Given the description of an element on the screen output the (x, y) to click on. 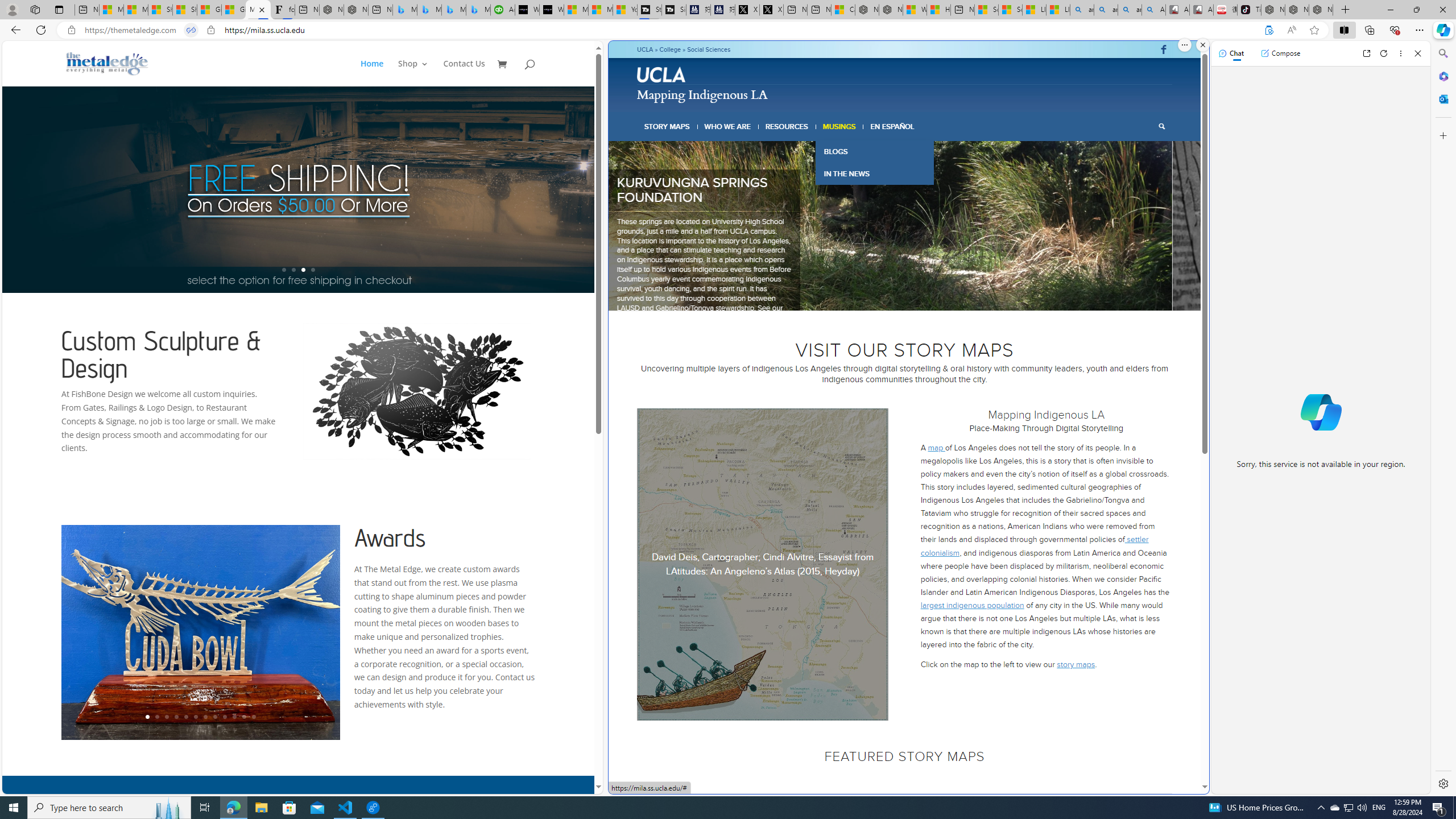
Metal Fish Sculptures & Metal Designs (106, 63)
Customize (1442, 135)
Microsoft Start Sports (575, 9)
Chat (1231, 52)
8 (935, 296)
Shop 3 (413, 72)
